Given the description of an element on the screen output the (x, y) to click on. 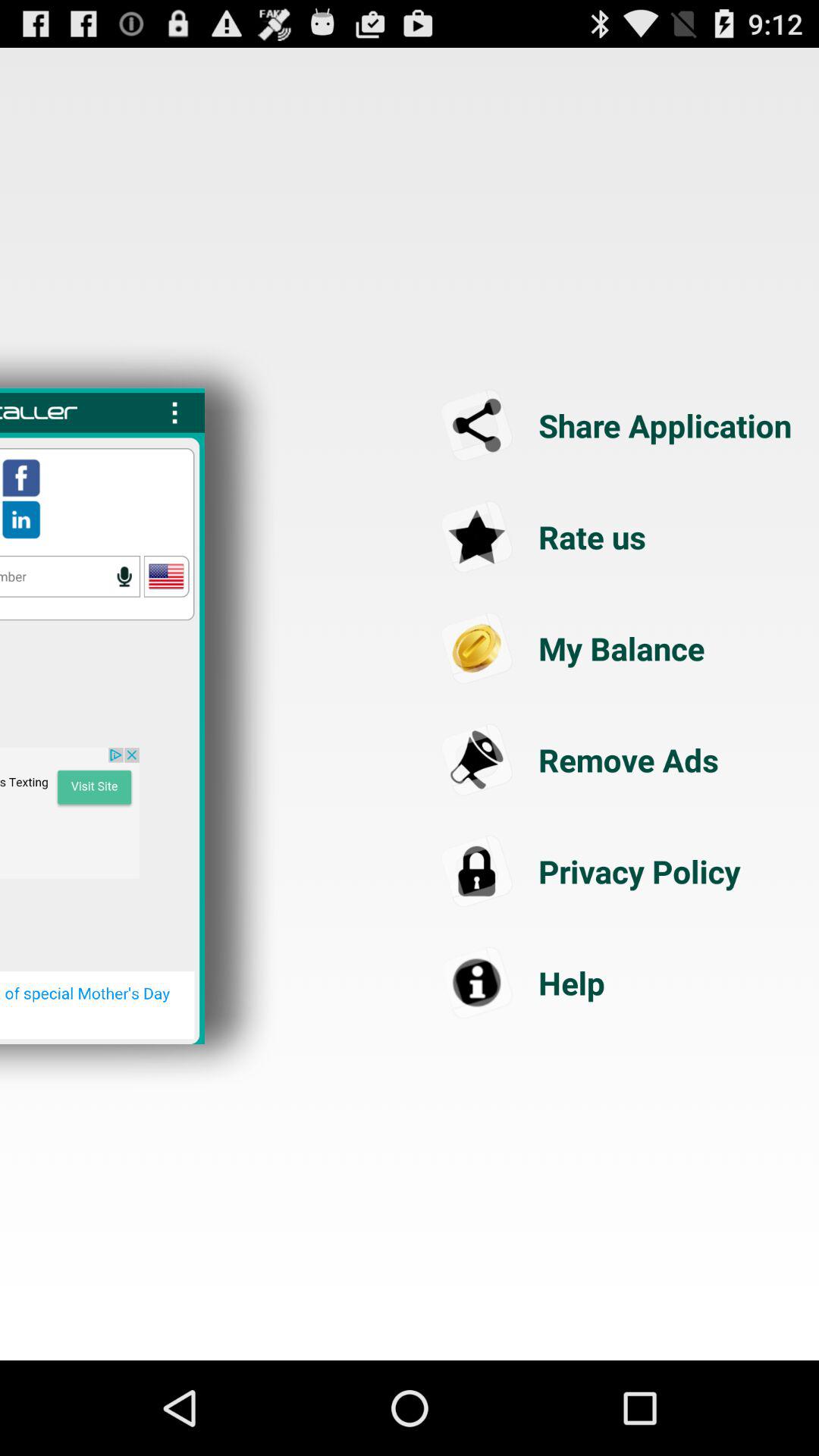
view advertisement link (69, 813)
